Given the description of an element on the screen output the (x, y) to click on. 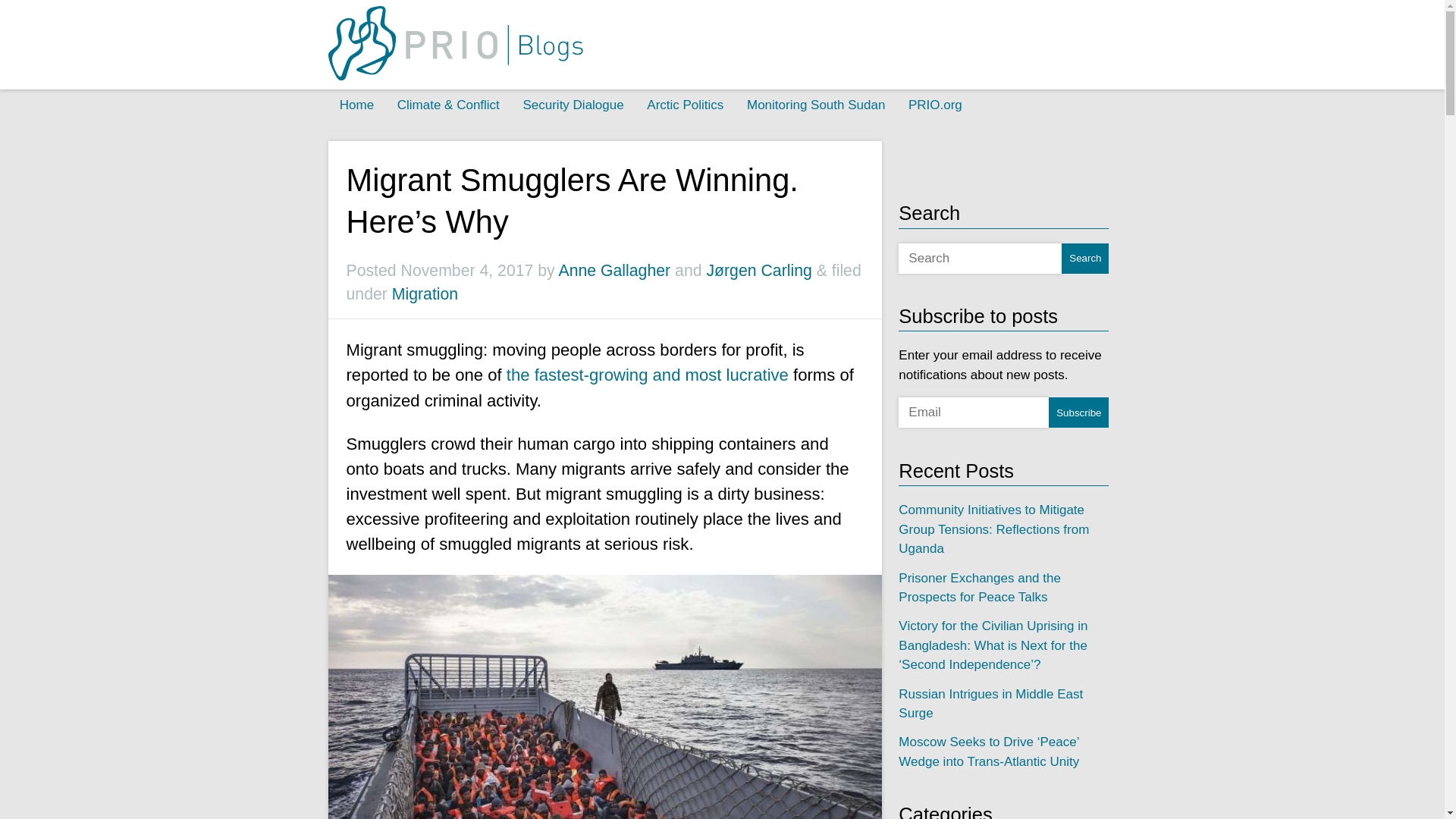
the fastest-growing and most lucrative (647, 374)
Monitoring South Sudan (815, 105)
Posts by Anne Gallagher (613, 270)
Subscribe (1078, 412)
Home (356, 105)
Security Dialogue (572, 105)
Anne Gallagher (613, 270)
Arctic Politics (684, 105)
Migration (424, 294)
PRIO.org (935, 105)
